Given the description of an element on the screen output the (x, y) to click on. 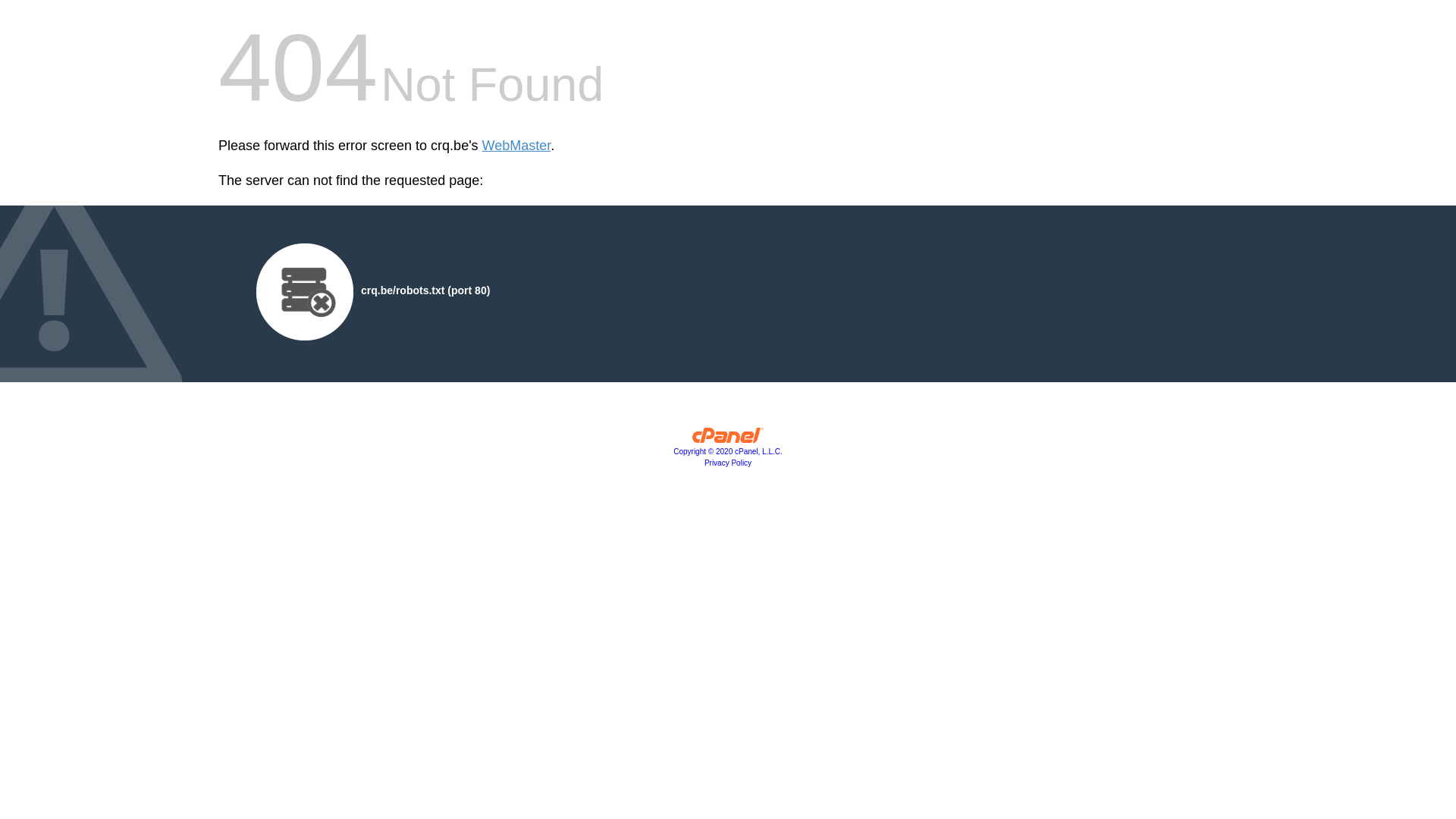
cPanel, Inc. Element type: hover (728, 439)
WebMaster Element type: text (516, 145)
Privacy Policy Element type: text (727, 462)
